Given the description of an element on the screen output the (x, y) to click on. 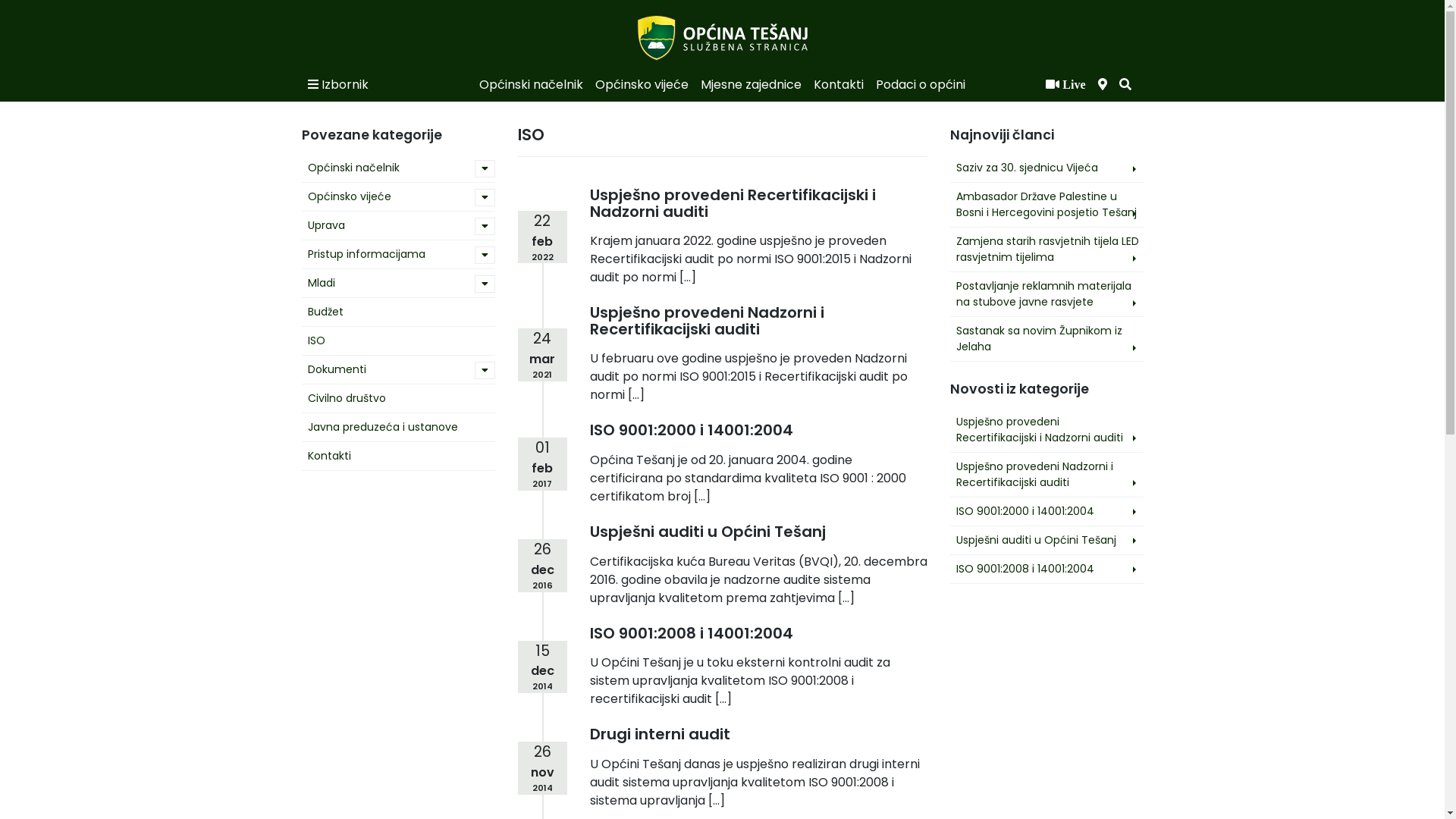
Postavljanje reklamnih materijala na stubove javne rasvjete Element type: text (1045, 294)
Uprava Element type: text (385, 225)
Zamjena starih rasvjetnih tijela LED rasvjetnim tijelima Element type: text (1045, 249)
Live Element type: text (1065, 84)
ISO Element type: text (385, 340)
Drugi interni audit Element type: text (659, 733)
ISO 9001:2008 i 14001:2004 Element type: text (691, 632)
Mjesne zajednice Element type: text (750, 84)
Dokumenti Element type: text (385, 369)
Kontakti Element type: text (385, 456)
ISO 9001:2000 i 14001:2004 Element type: text (1045, 511)
ISO 9001:2008 i 14001:2004 Element type: text (1045, 569)
Pristup informacijama Element type: text (385, 254)
Izbornik Element type: text (337, 84)
Mladi Element type: text (385, 283)
ISO 9001:2000 i 14001:2004 Element type: text (691, 429)
Kontakti Element type: text (838, 84)
